Given the description of an element on the screen output the (x, y) to click on. 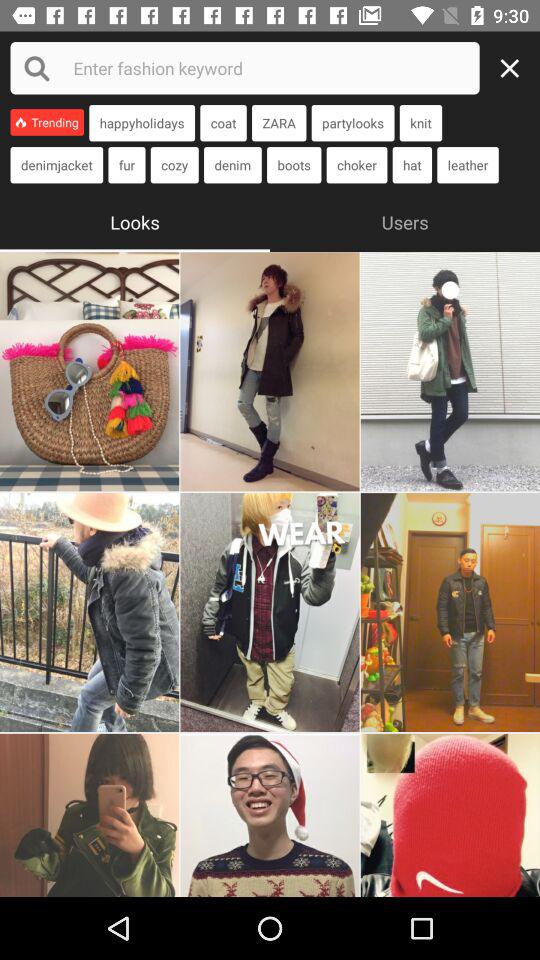
looks user search peoples (89, 612)
